Given the description of an element on the screen output the (x, y) to click on. 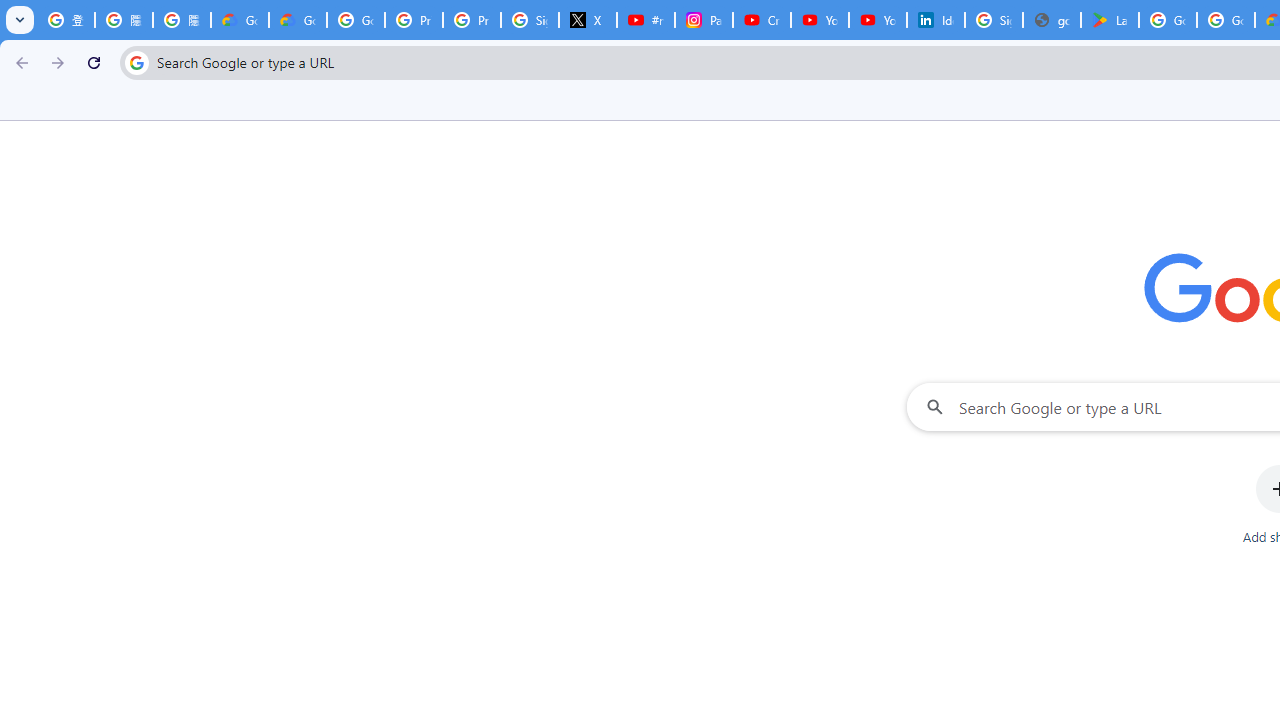
google_privacy_policy_en.pdf (1051, 20)
Last Shelter: Survival - Apps on Google Play (1110, 20)
Google Workspace - Specific Terms (1225, 20)
Identity verification via Persona | LinkedIn Help (936, 20)
